Given the description of an element on the screen output the (x, y) to click on. 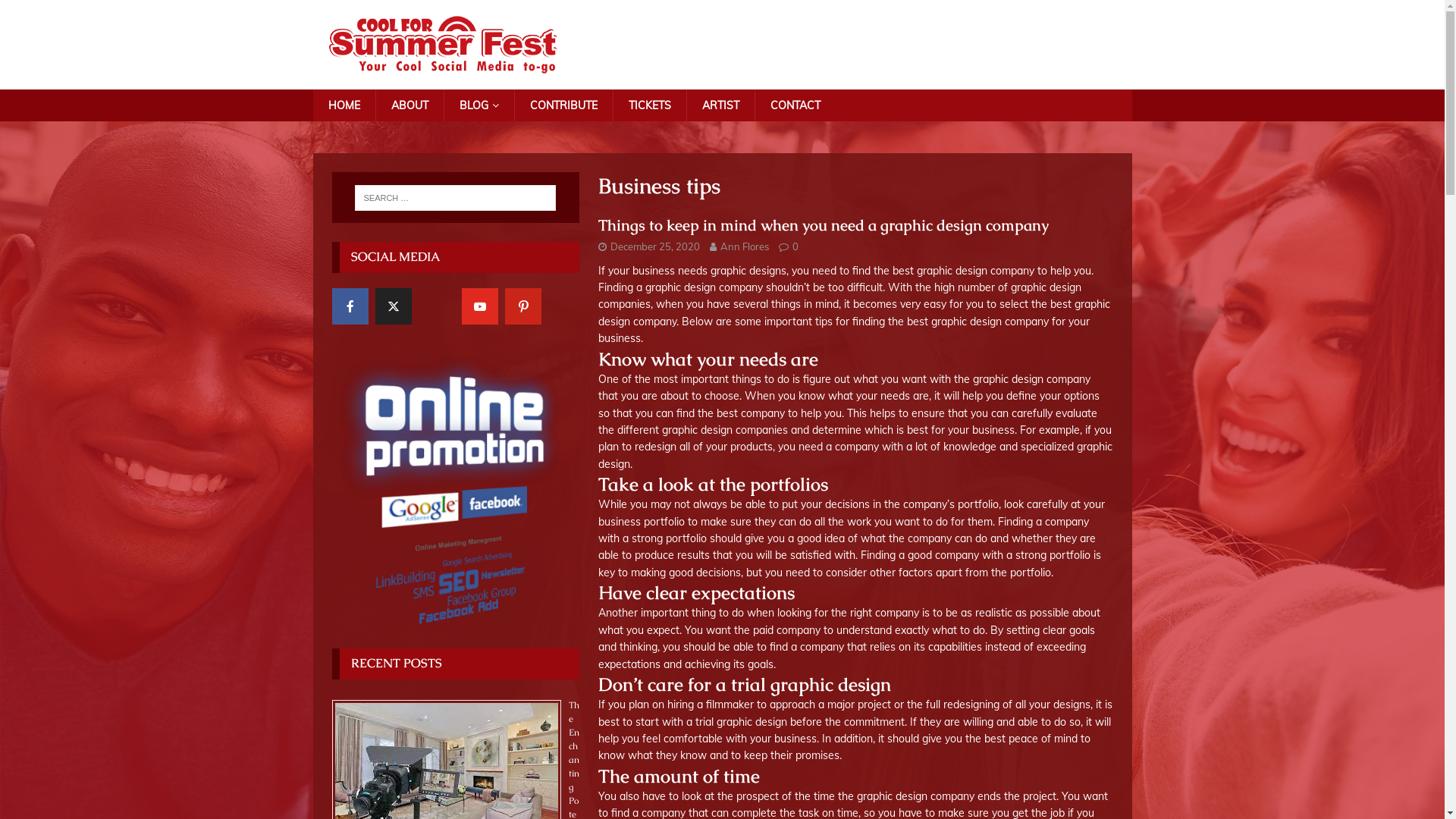
facebook Element type: text (350, 306)
CONTACT Element type: text (793, 105)
0 Element type: text (795, 246)
Search Element type: text (56, 11)
CONTRIBUTE Element type: text (563, 105)
pinterest Element type: text (523, 306)
TICKETS Element type: text (649, 105)
youtube Element type: text (479, 306)
HOME Element type: text (343, 105)
Ann Flores Element type: text (744, 246)
ARTIST Element type: text (719, 105)
google-plus Element type: text (436, 306)
ABOUT Element type: text (408, 105)
twitter Element type: text (392, 306)
BLOG Element type: text (477, 105)
